Given the description of an element on the screen output the (x, y) to click on. 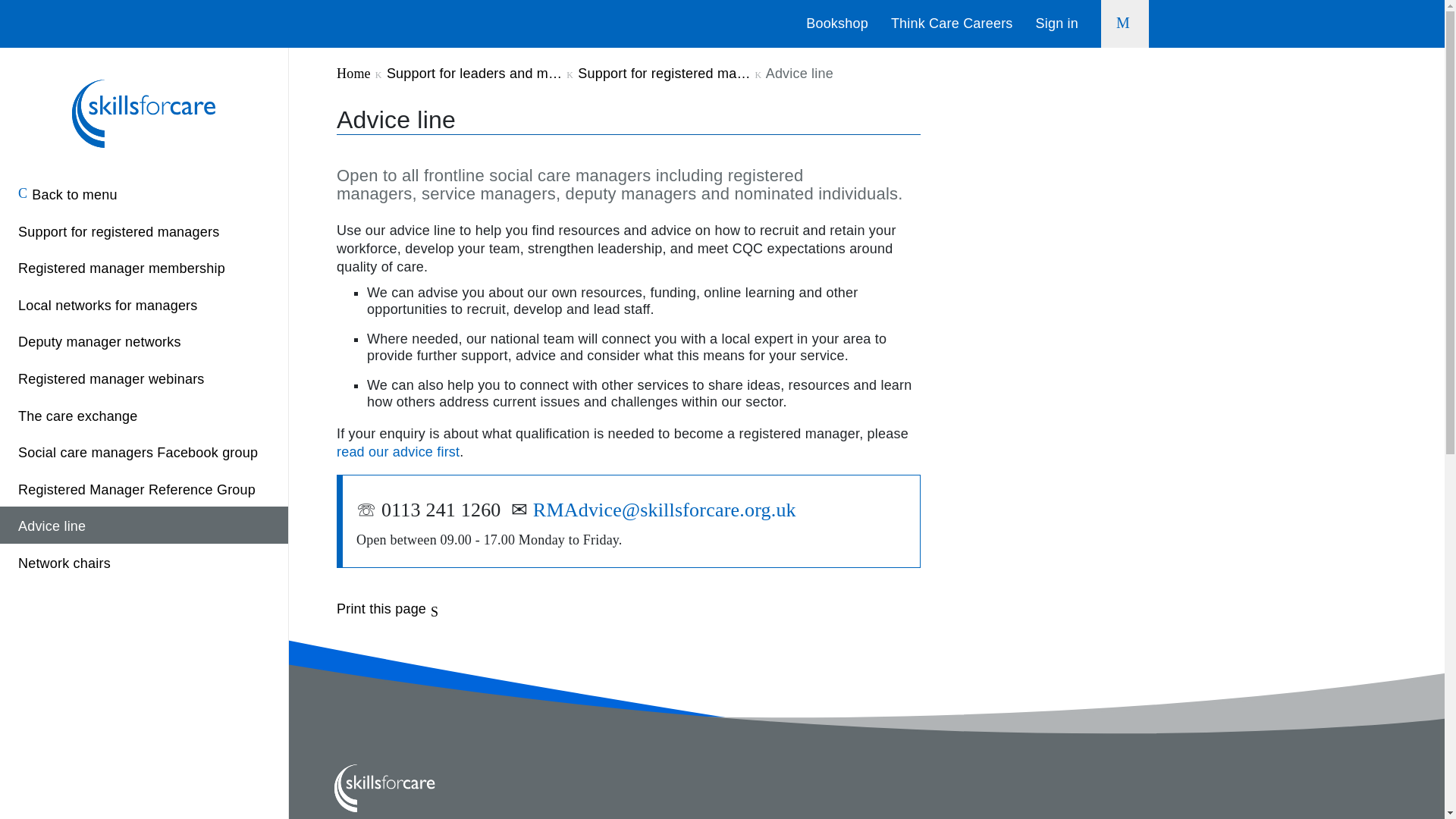
Local networks for managers (144, 303)
Back to menu (144, 193)
Advice line (144, 524)
Support for registered managers (144, 230)
Sign in (1056, 23)
Registered manager membership (144, 266)
Go to home page (144, 111)
Local networks for managers (144, 303)
The care exchange (144, 415)
Support for registered managers (144, 230)
Registered manager webinars (144, 377)
Go to Think Care Careers (952, 23)
Registered Manager Reference Group (144, 488)
Go to Sign in (1056, 23)
Bookshop (836, 23)
